Given the description of an element on the screen output the (x, y) to click on. 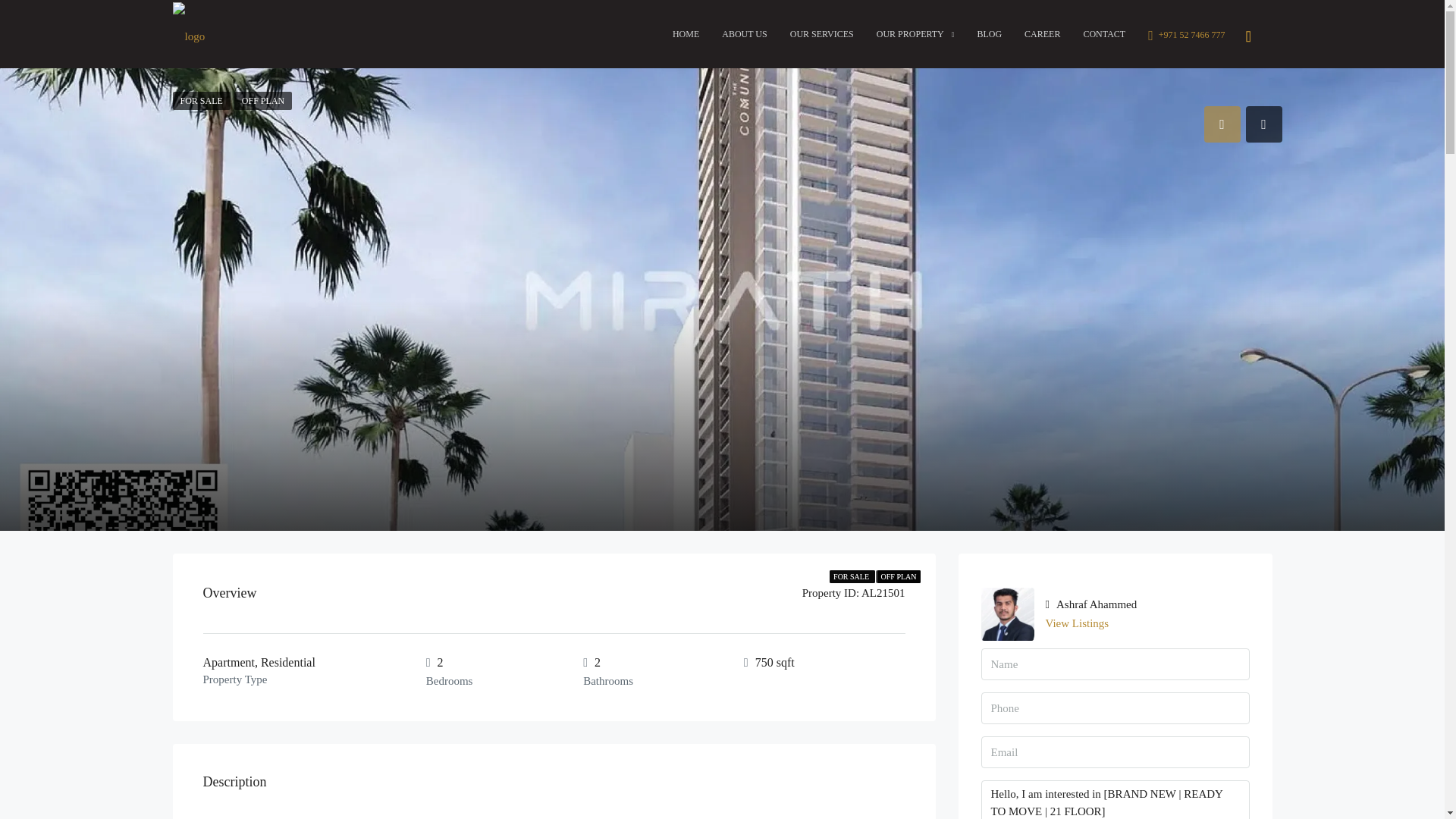
OUR PROPERTY (915, 34)
FOR SALE (201, 100)
OFF PLAN (263, 100)
CONTACT (1104, 33)
OUR SERVICES (821, 33)
ABOUT US (743, 33)
